Given the description of an element on the screen output the (x, y) to click on. 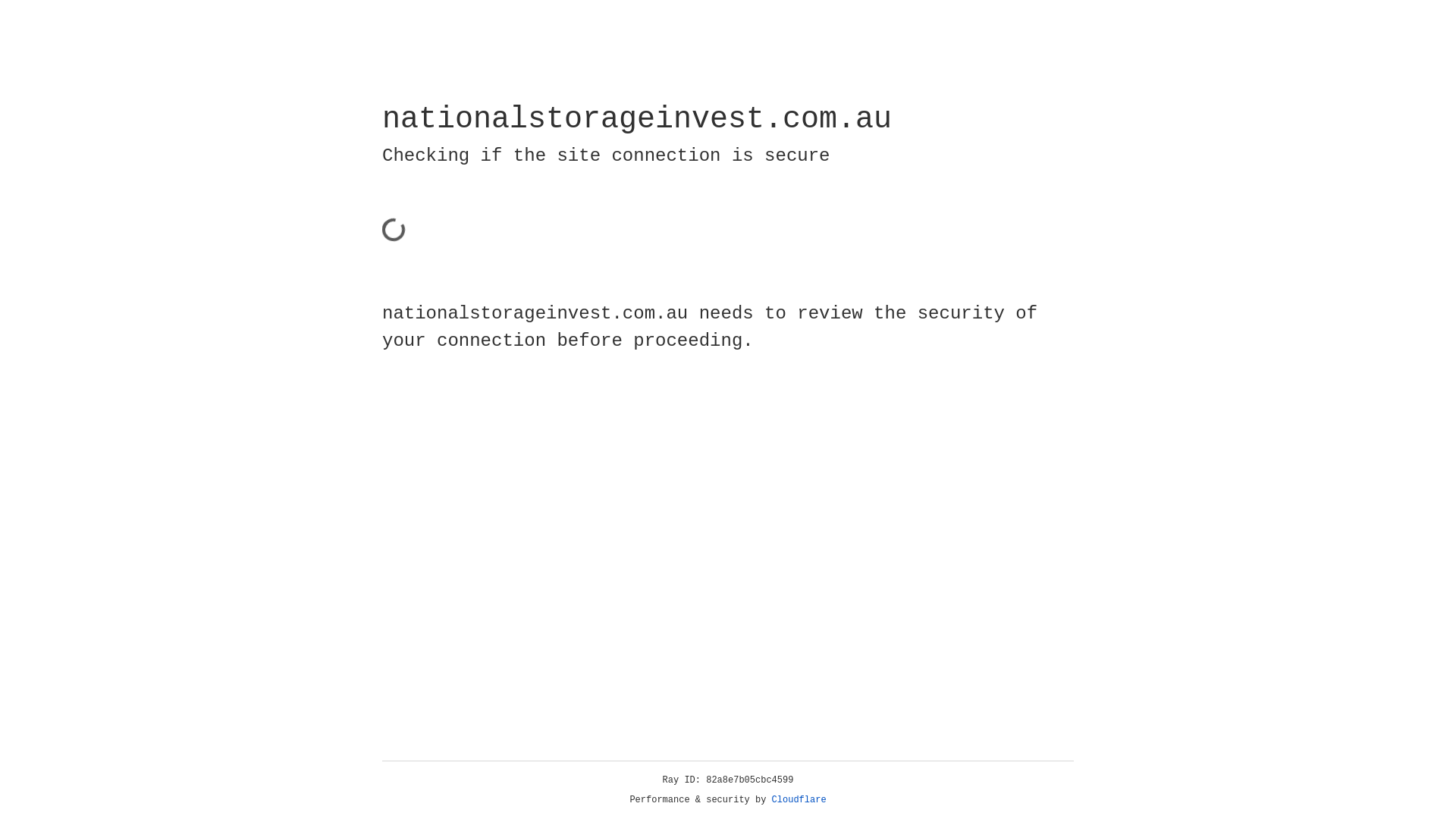
Cloudflare Element type: text (798, 799)
